Given the description of an element on the screen output the (x, y) to click on. 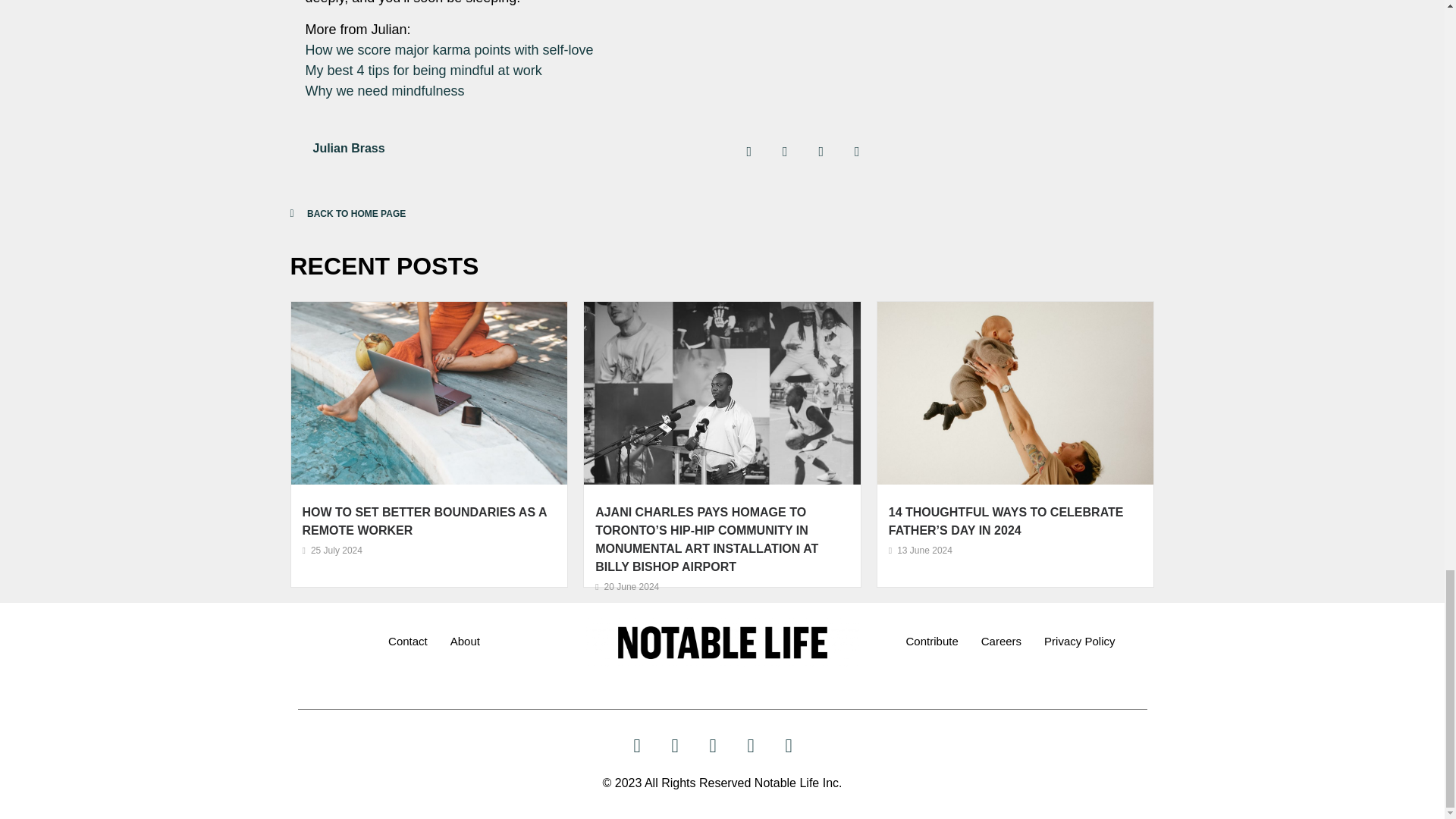
How to Set Better Boundaries as a Remote Worker (423, 521)
